Given the description of an element on the screen output the (x, y) to click on. 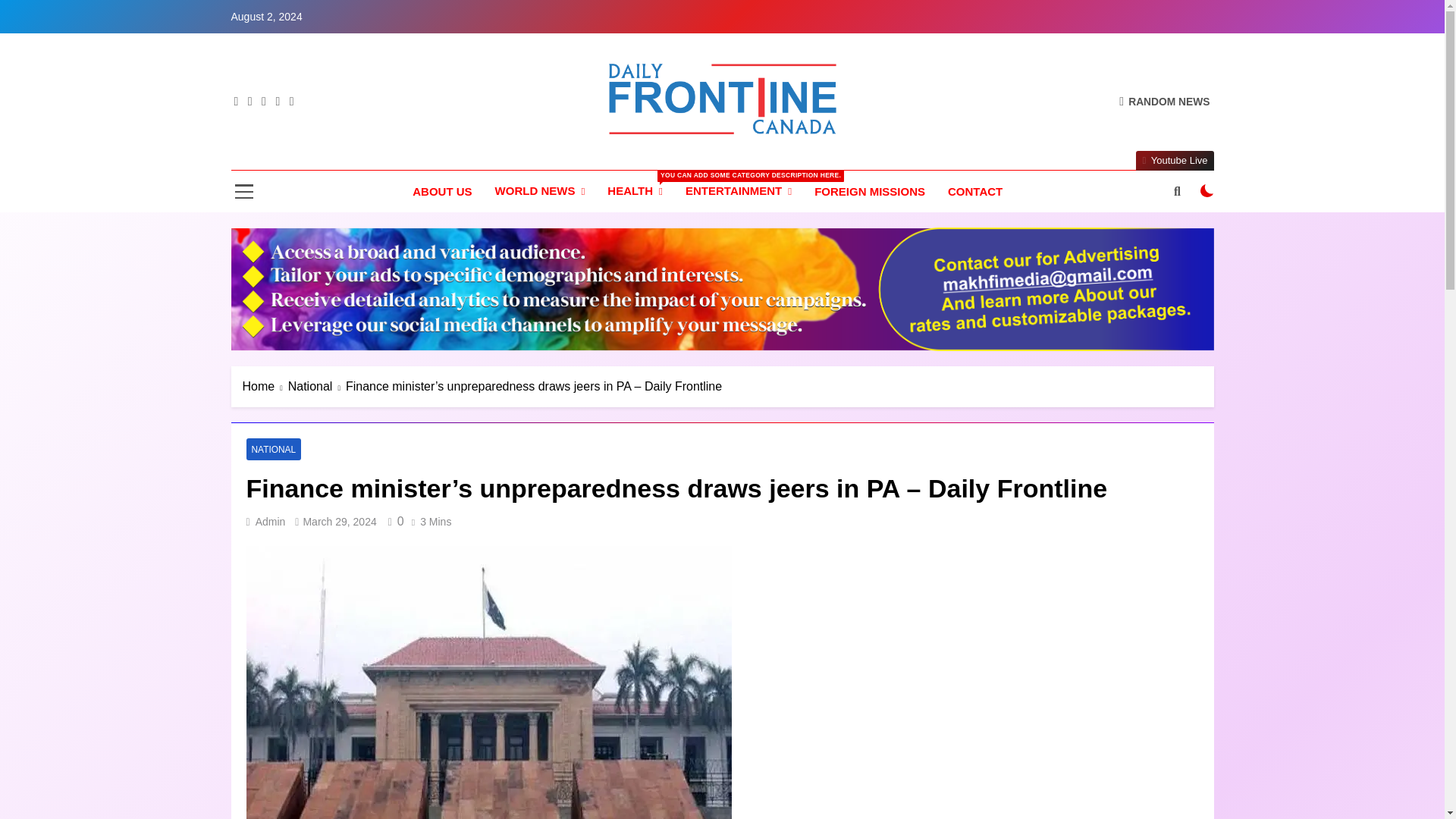
Daily Frontline (591, 156)
on (1206, 191)
RANDOM NEWS (1164, 101)
